Given the description of an element on the screen output the (x, y) to click on. 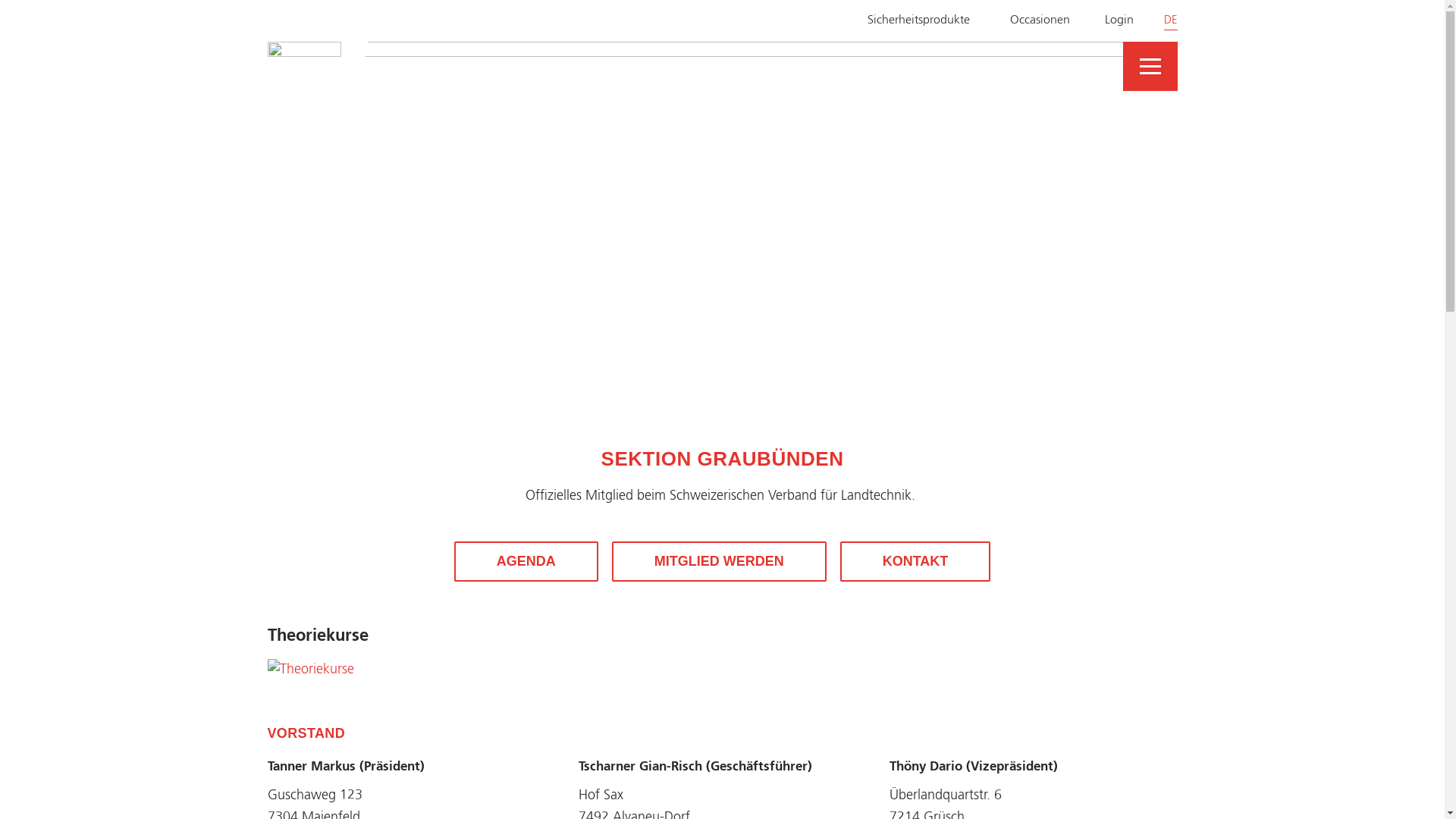
Sicherheitsprodukte Element type: text (906, 21)
Login Element type: text (1108, 21)
KONTAKT Element type: text (915, 561)
DE Element type: text (1169, 20)
Occasionen Element type: text (1027, 21)
Theoriekurse Element type: hover (309, 669)
MITGLIED WERDEN Element type: text (718, 561)
AGENDA Element type: text (526, 561)
